Given the description of an element on the screen output the (x, y) to click on. 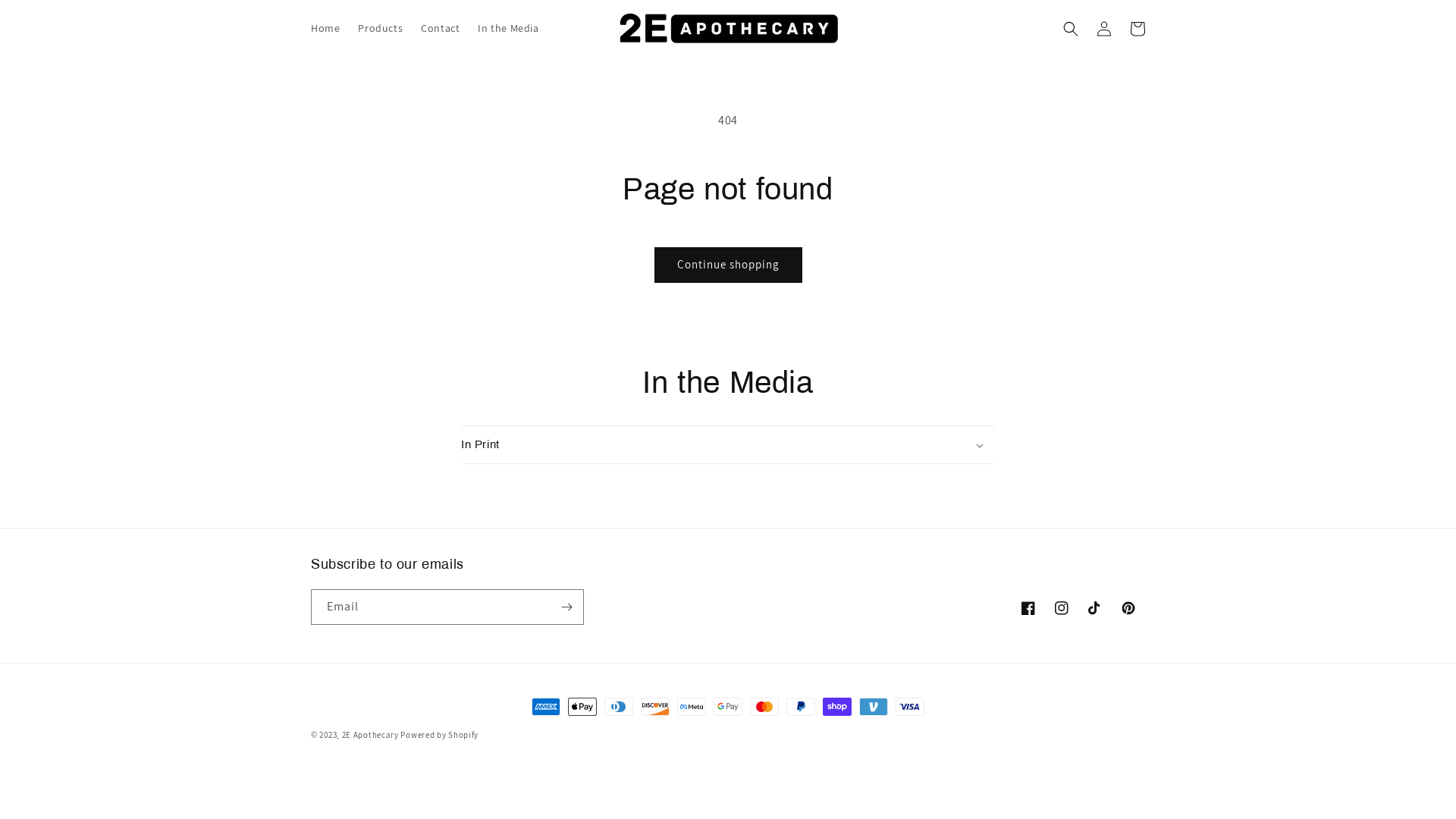
In the Media Element type: text (507, 27)
2E Apothecary Element type: text (370, 734)
Instagram Element type: text (1061, 607)
TikTok Element type: text (1094, 607)
Pinterest Element type: text (1128, 607)
Powered by Shopify Element type: text (439, 734)
Cart Element type: text (1137, 28)
Log in Element type: text (1103, 28)
Continue shopping Element type: text (727, 264)
Facebook Element type: text (1027, 607)
Products Element type: text (379, 27)
Home Element type: text (324, 27)
Contact Element type: text (439, 27)
Cove Leader Press Element type: hover (600, 473)
Our story Element type: hover (584, 507)
